Given the description of an element on the screen output the (x, y) to click on. 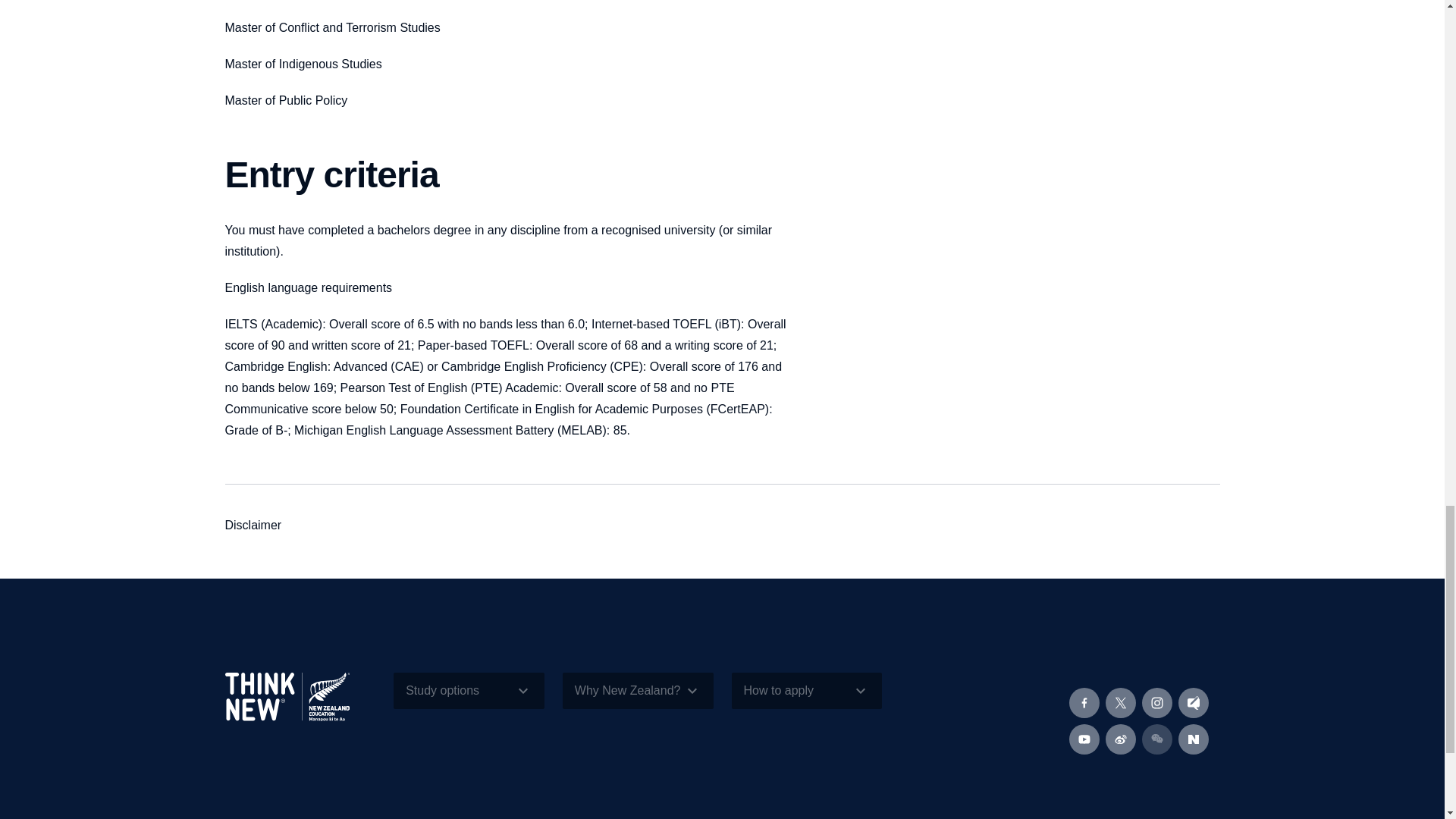
Why New Zealand? (637, 690)
Study options (468, 690)
Facebook (1083, 702)
New Zealand Education - Think New Logo (299, 708)
Blog (1192, 702)
Instagram (1156, 702)
How to apply (806, 690)
YouTube (1083, 738)
Twitter (1120, 702)
Link to homepage (299, 708)
New Zealand Education - Think New Logo (286, 696)
